Given the description of an element on the screen output the (x, y) to click on. 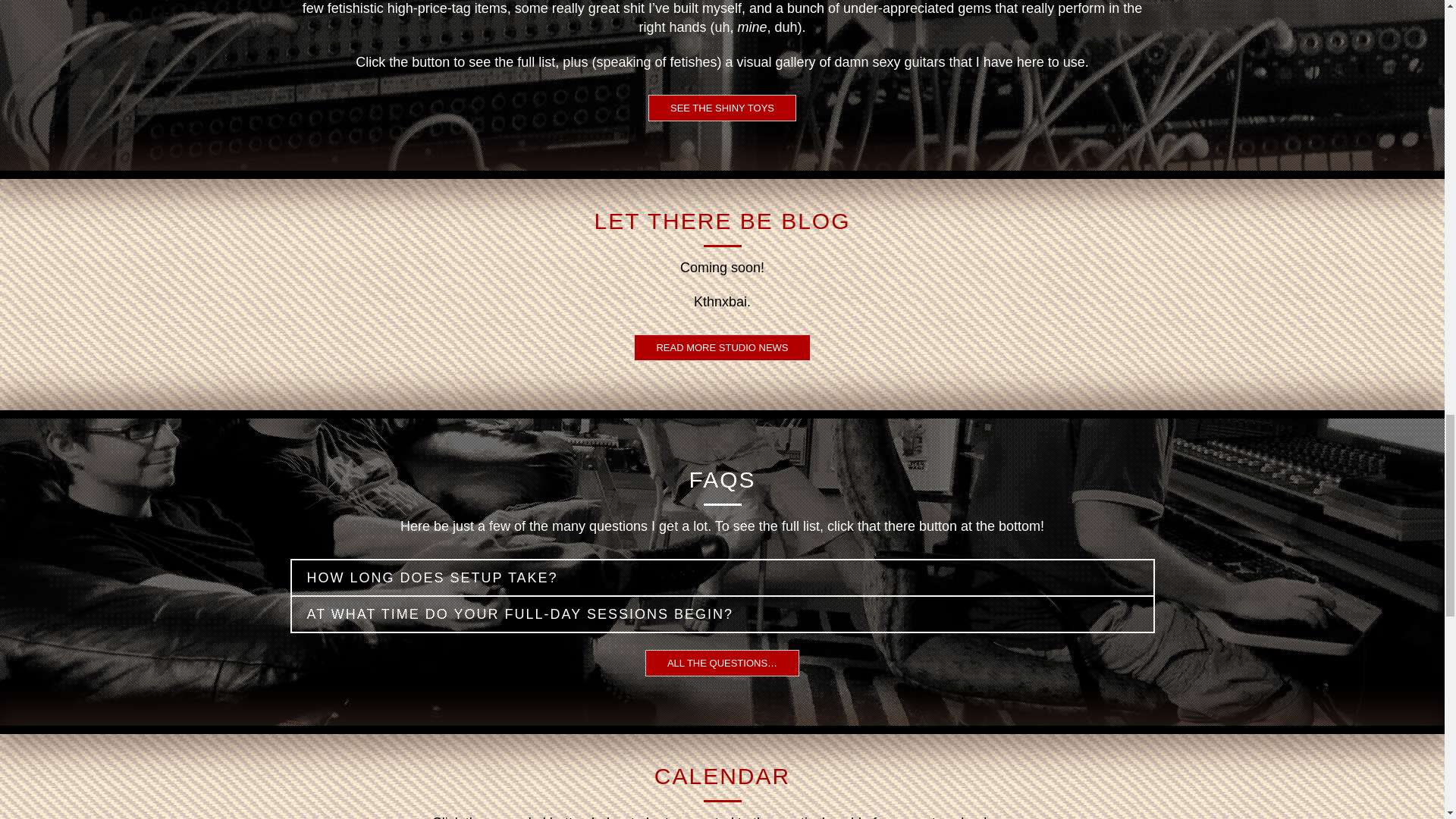
SEE THE SHINY TOYS (721, 108)
READ MORE STUDIO NEWS (721, 347)
AT WHAT TIME DO YOUR FULL-DAY SESSIONS BEGIN? (722, 614)
HOW LONG DOES SETUP TAKE? (722, 577)
